Given the description of an element on the screen output the (x, y) to click on. 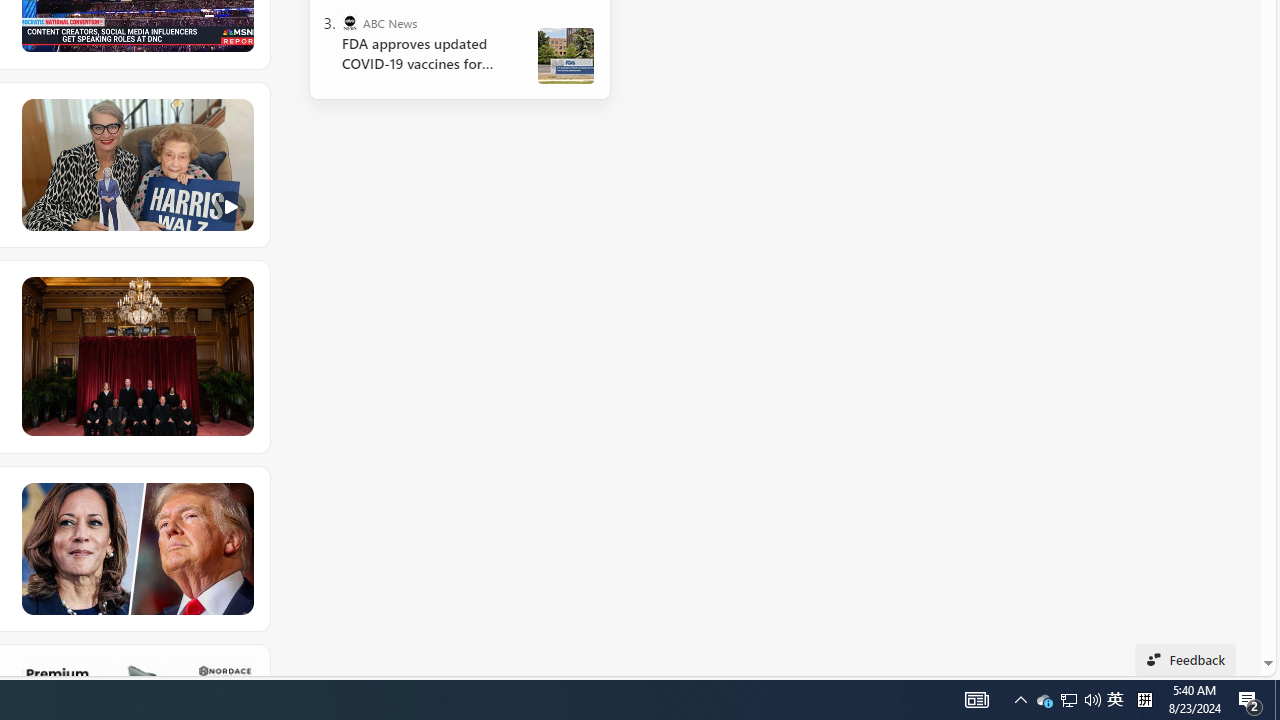
Class: hero-image (136, 165)
ABC News (349, 22)
